Given the description of an element on the screen output the (x, y) to click on. 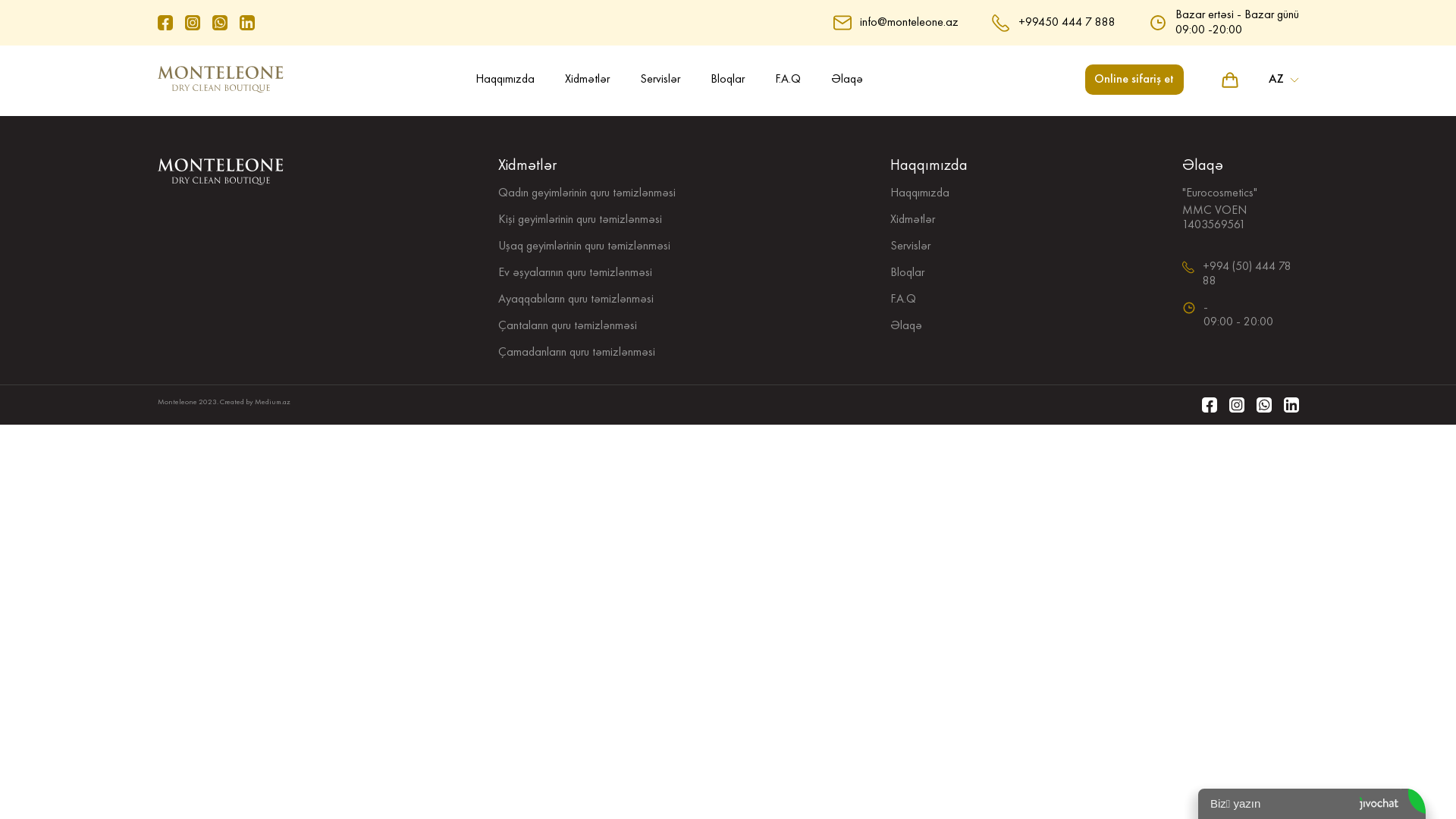
F.A.Q Element type: text (903, 299)
Monteleone 2023. Created by Medium.az Element type: text (223, 404)
F.A.Q Element type: text (787, 79)
Bloqlar Element type: text (907, 272)
info@monteleone.az Element type: text (908, 22)
+994 (50) 444 78 88 Element type: text (1250, 274)
Bloqlar Element type: text (726, 79)
+99450 444 7 888 Element type: text (1065, 22)
